Given the description of an element on the screen output the (x, y) to click on. 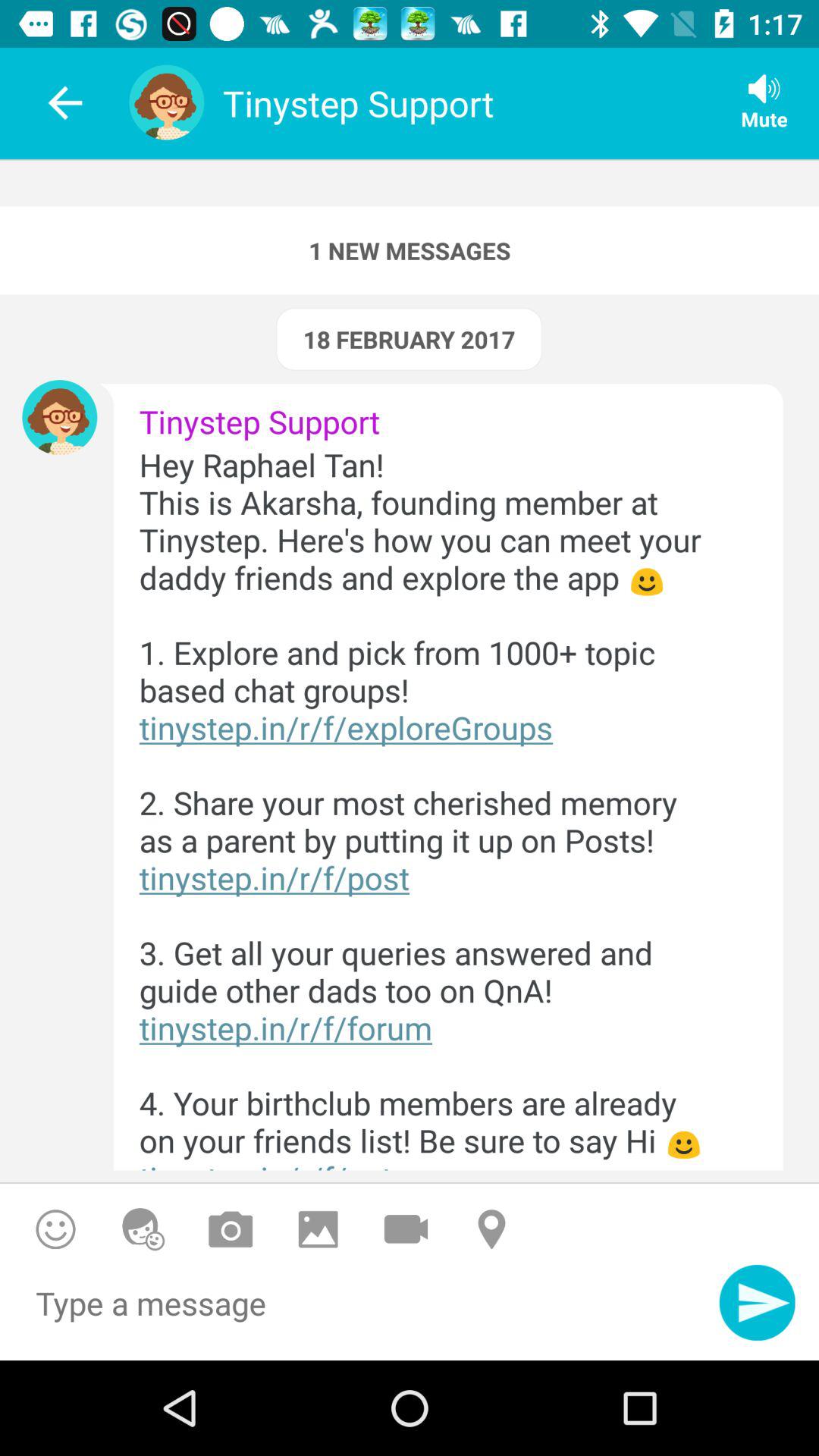
gps location (493, 1229)
